Given the description of an element on the screen output the (x, y) to click on. 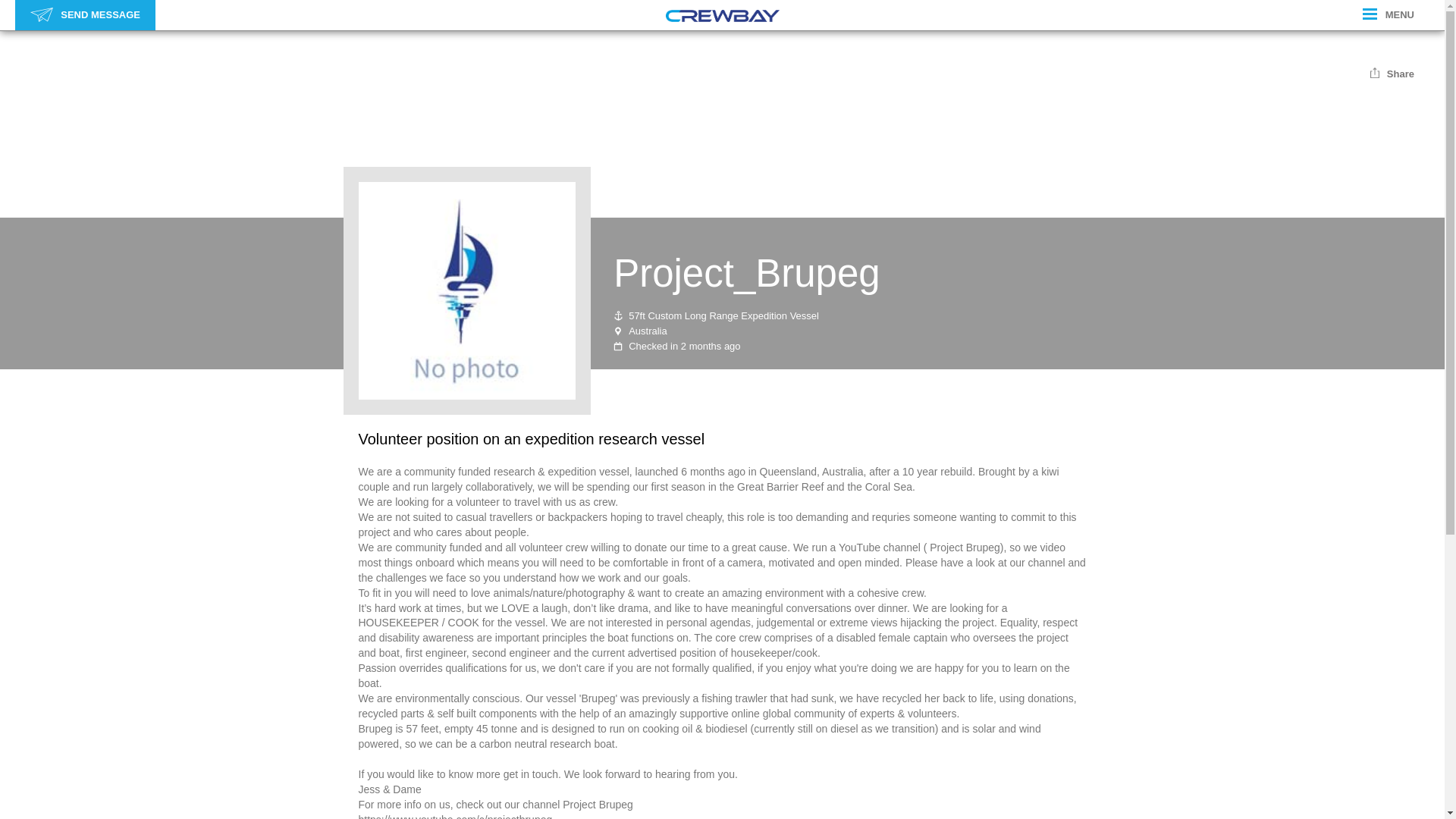
Crewbay (721, 15)
Send Message (41, 14)
Menu (1369, 13)
